Given the description of an element on the screen output the (x, y) to click on. 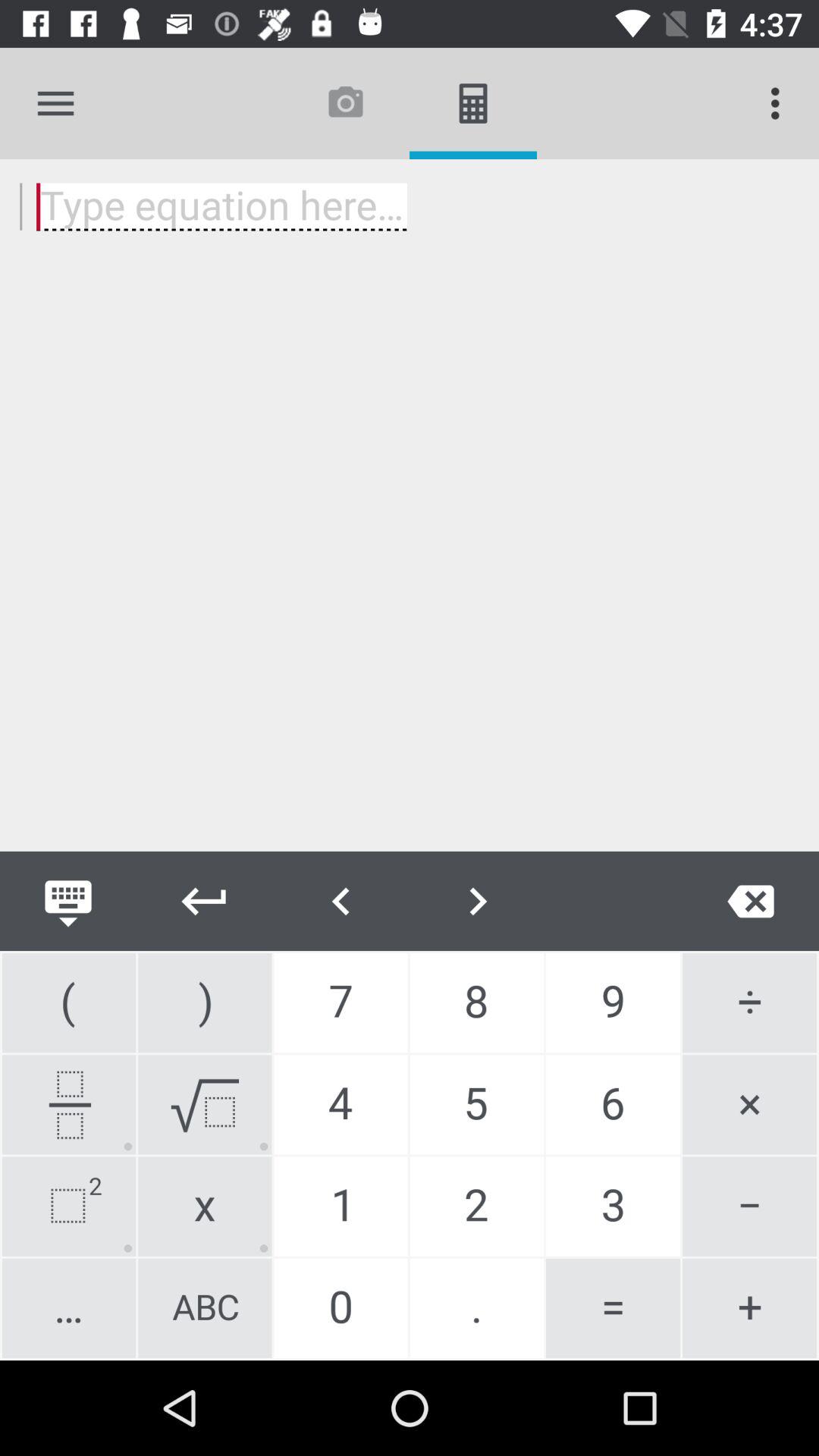
switch delete option (750, 900)
